Given the description of an element on the screen output the (x, y) to click on. 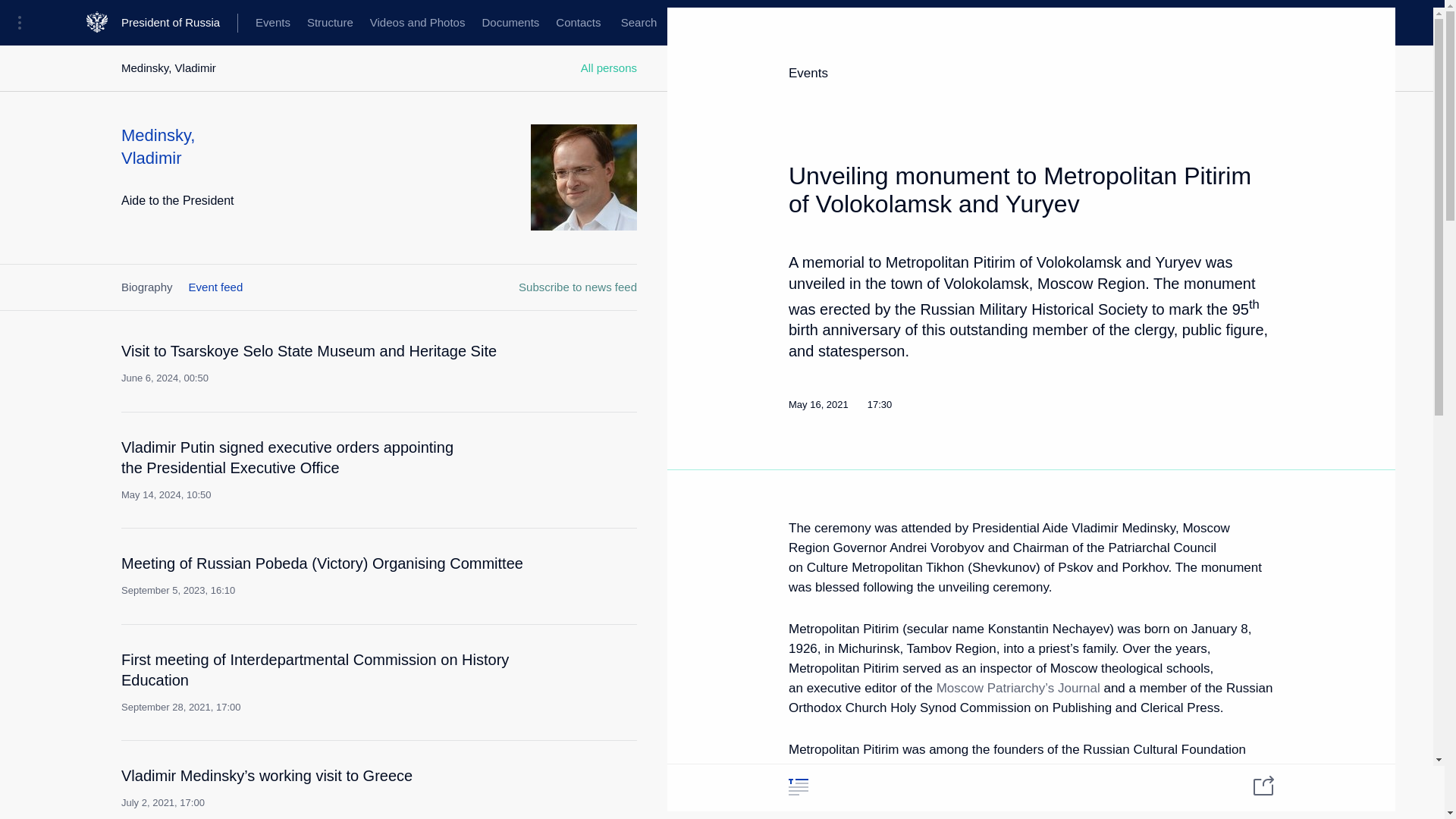
Biography (146, 287)
Event feed (215, 287)
Portal Menu (24, 22)
Text (798, 786)
All persons (608, 67)
Search (638, 22)
Structure (329, 22)
